Given the description of an element on the screen output the (x, y) to click on. 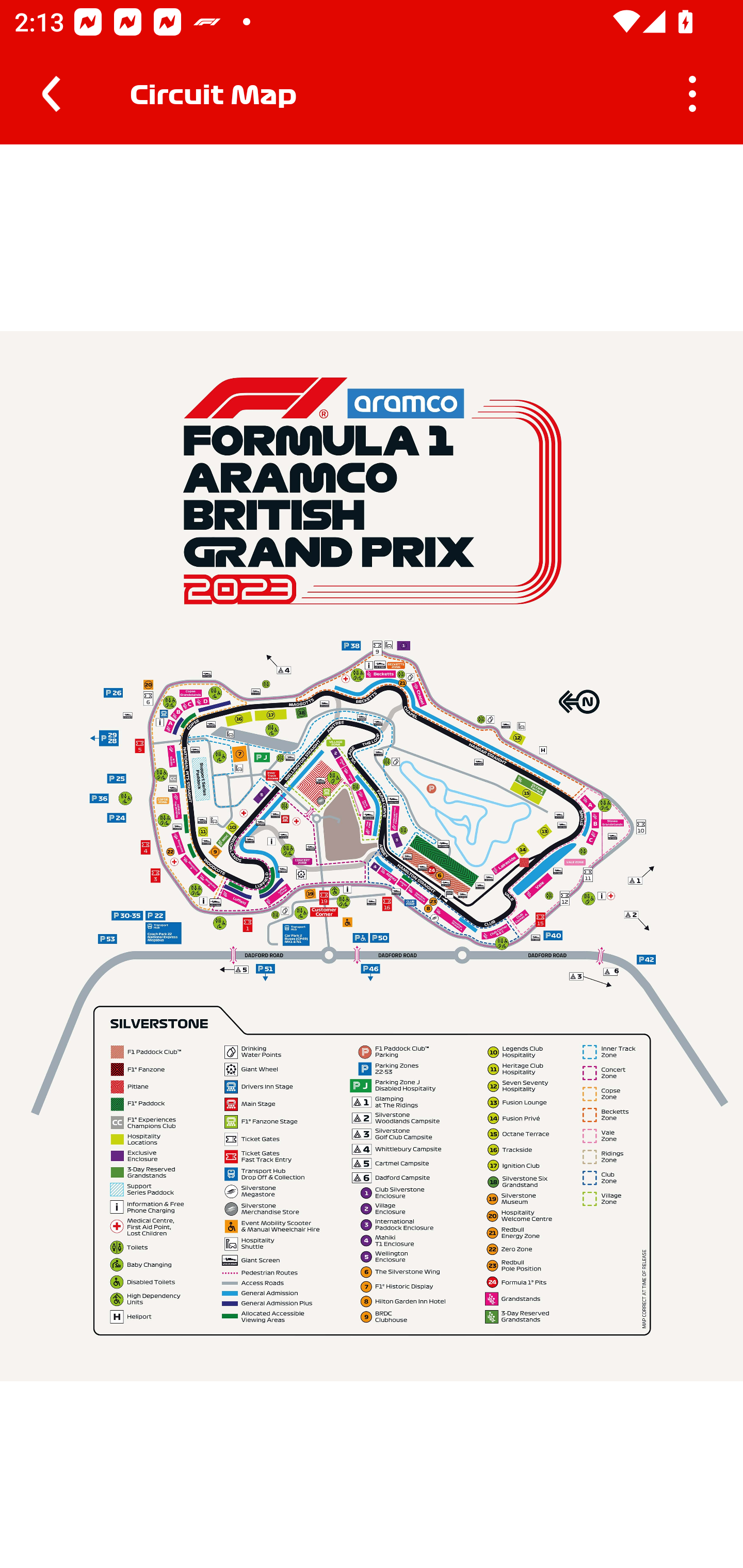
Navigate up (50, 93)
